Given the description of an element on the screen output the (x, y) to click on. 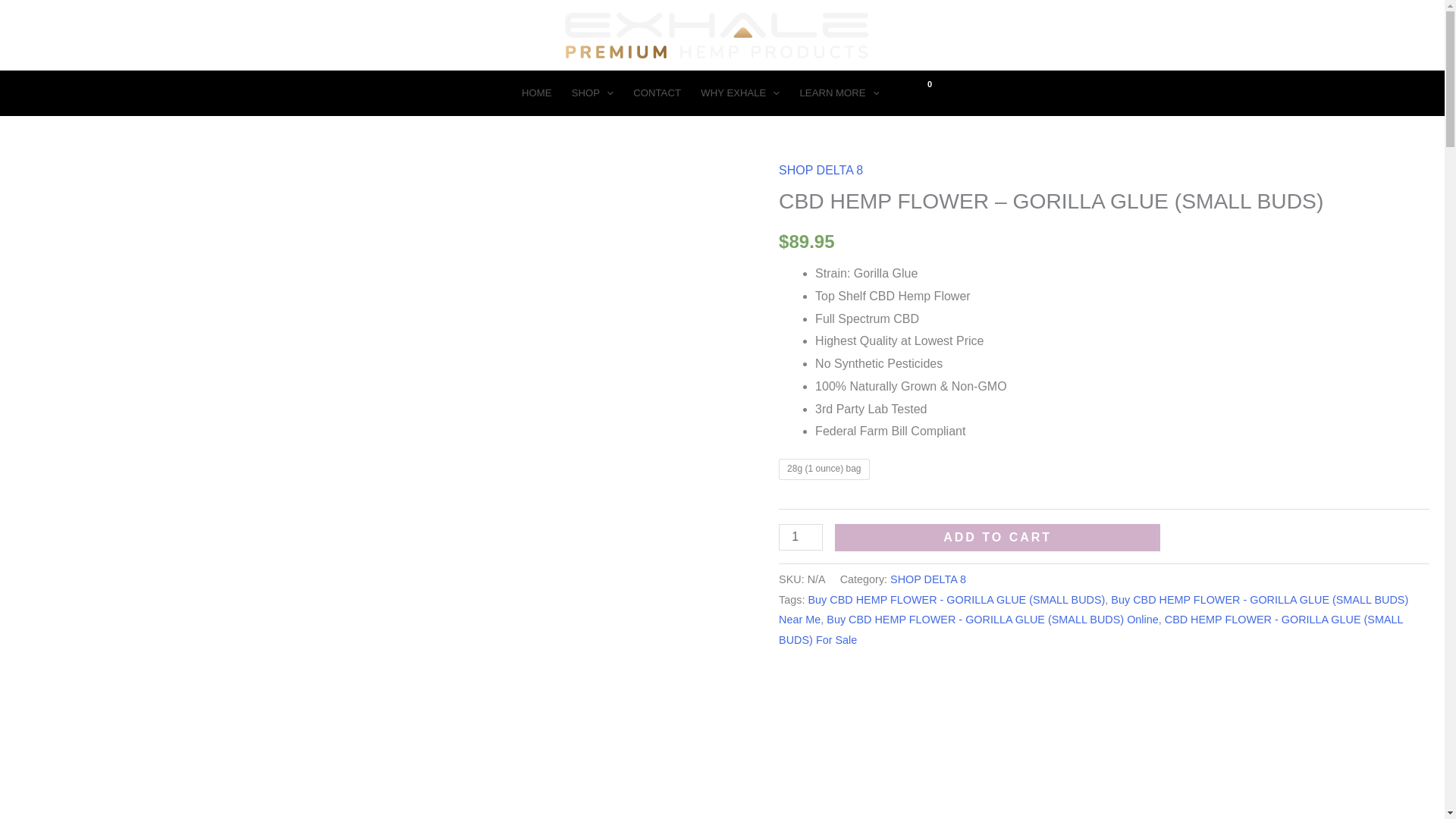
1 (800, 537)
SHOP (593, 93)
HOME (537, 93)
